Given the description of an element on the screen output the (x, y) to click on. 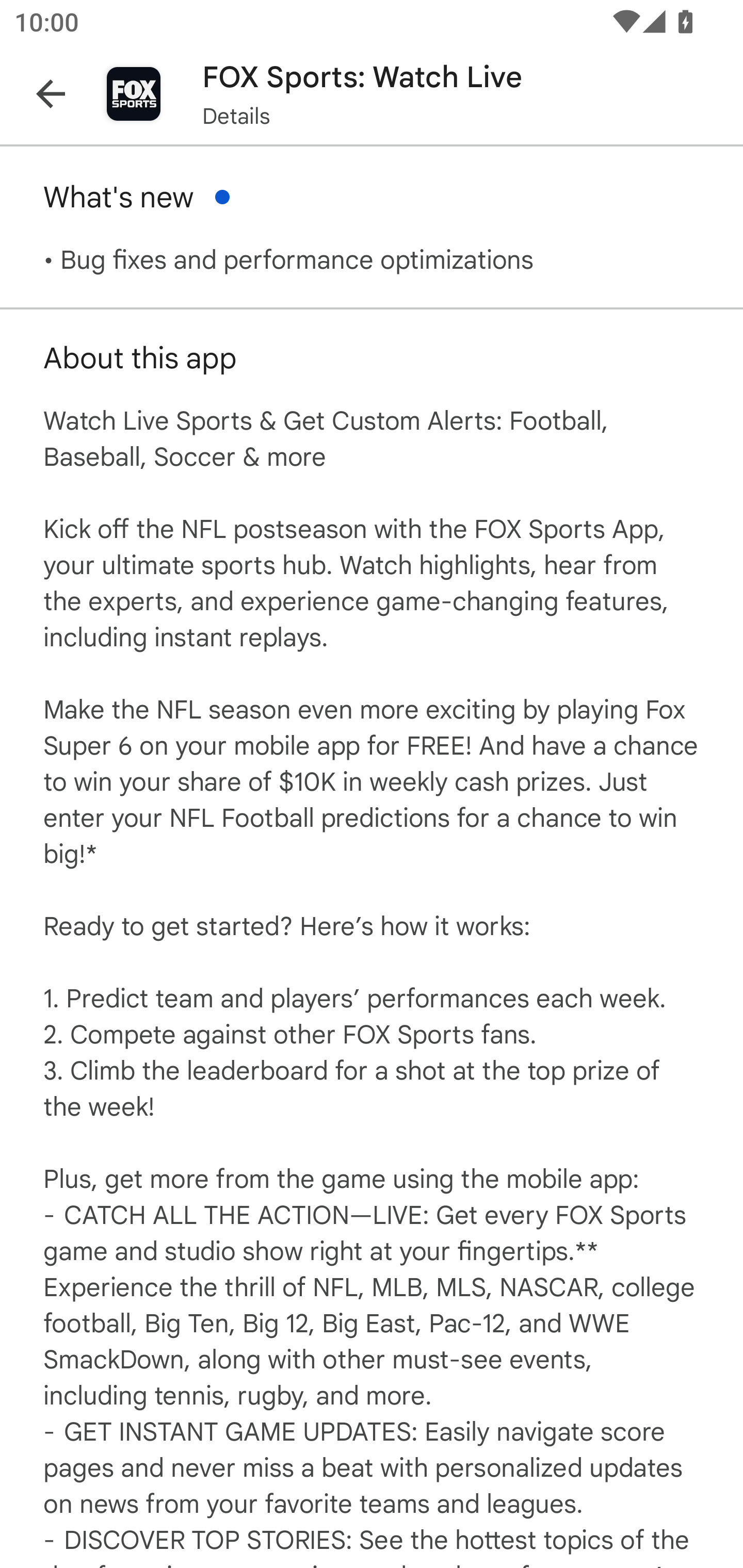
Navigate up (50, 93)
